Given the description of an element on the screen output the (x, y) to click on. 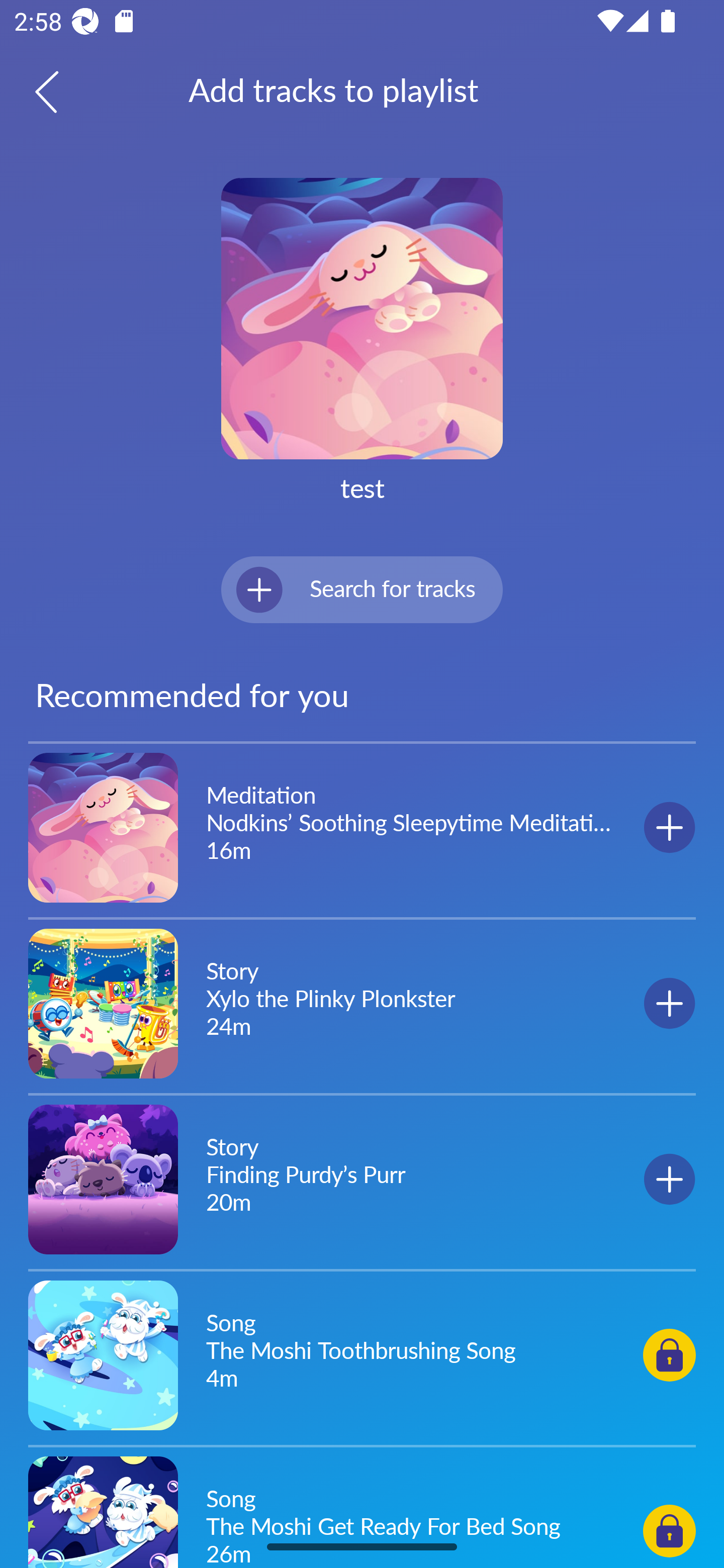
icon Search for tracks (361, 589)
Story Xylo the Plinky Plonkster 24m (361, 1003)
Story Finding Purdy’s Purr 20m (361, 1179)
Song The Moshi Toothbrushing Song 4m (361, 1354)
Song The Moshi Get Ready For Bed Song 26m (361, 1509)
